Given the description of an element on the screen output the (x, y) to click on. 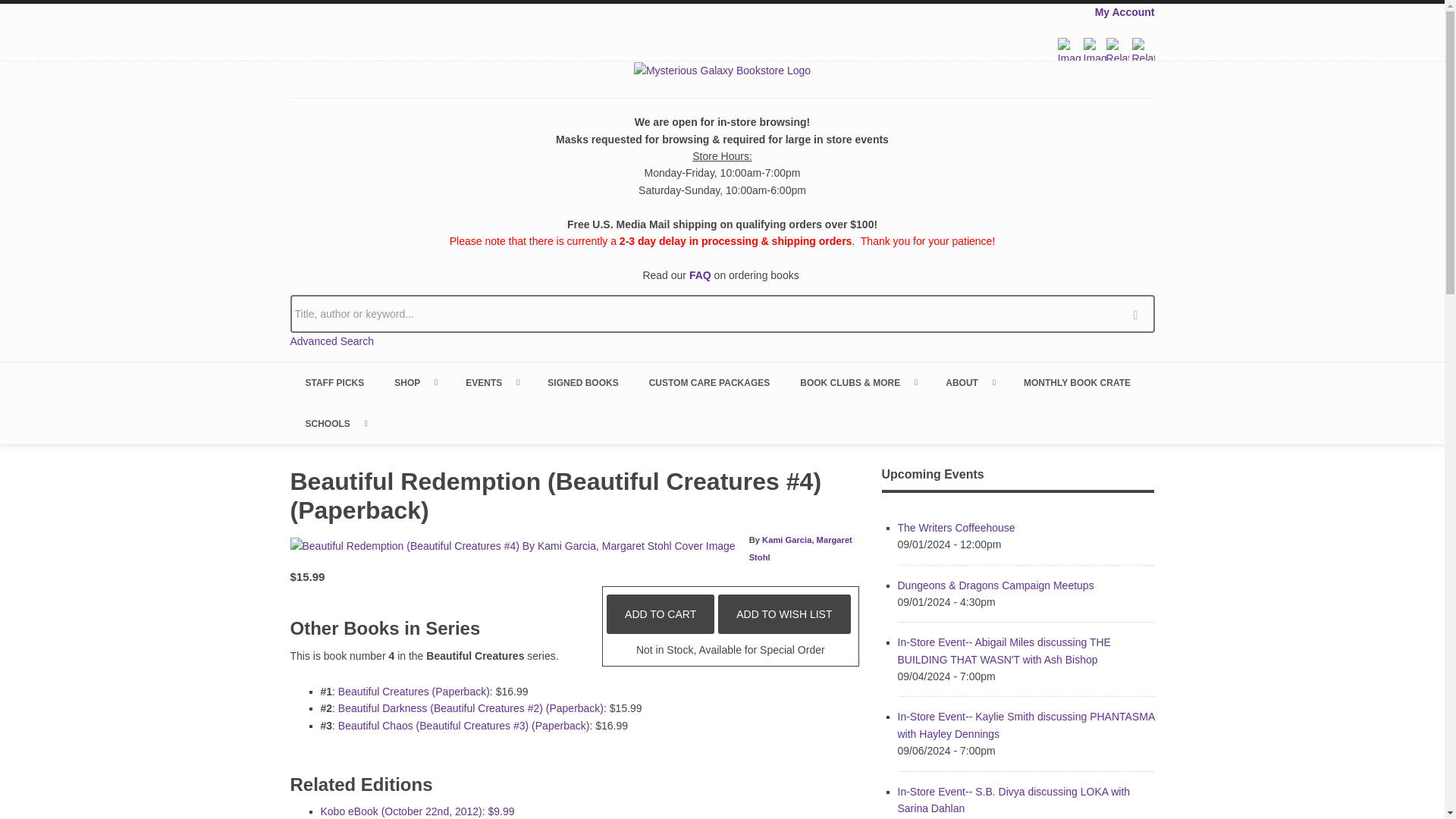
Title, author or keyword... (721, 313)
Add to Wish List (783, 613)
My Account (1124, 11)
Add to Cart (660, 613)
Home (721, 69)
STAFF PICKS (333, 382)
FAQ (699, 275)
EVENTS (490, 382)
SHOP (413, 382)
